Given the description of an element on the screen output the (x, y) to click on. 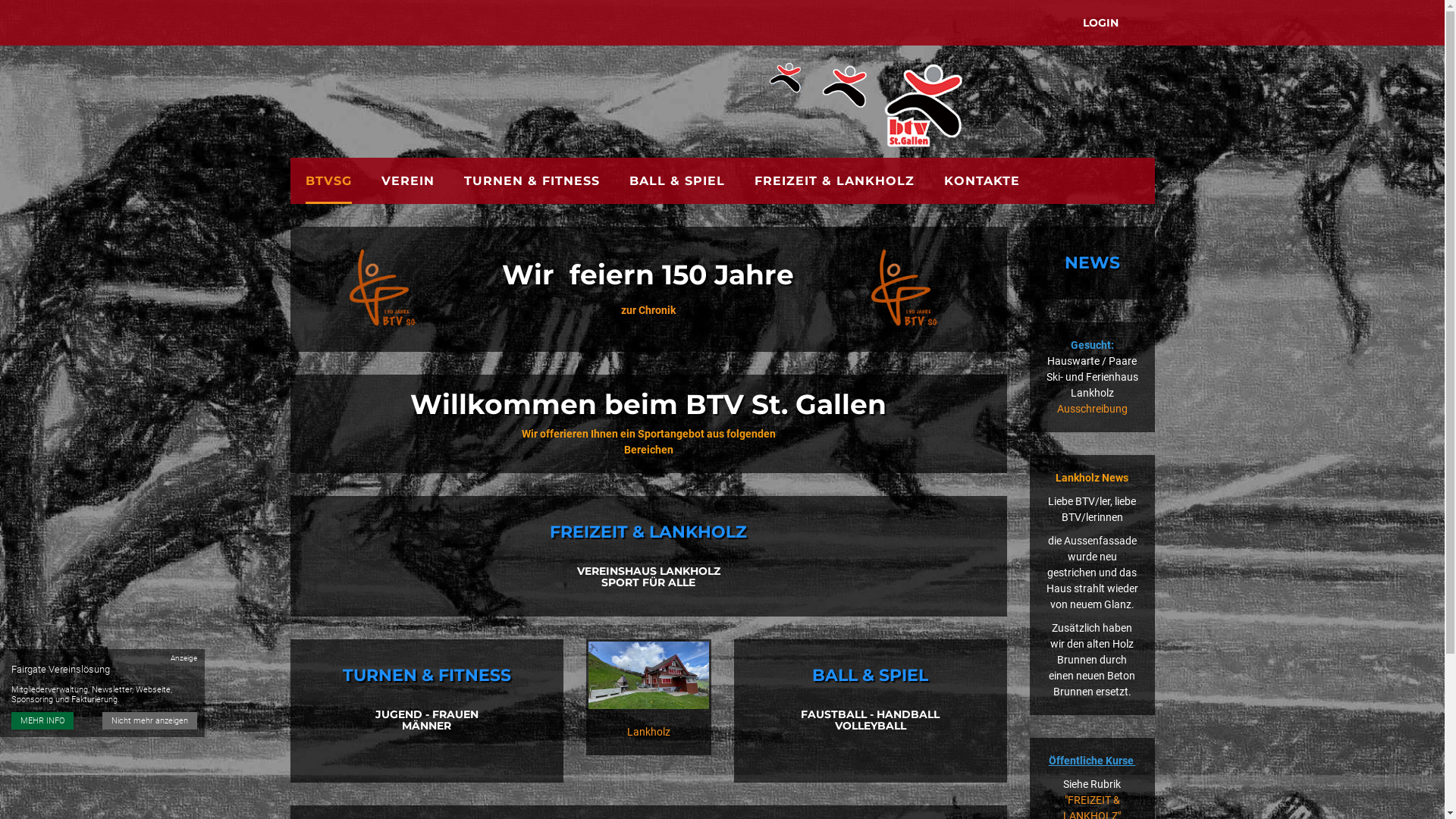
TURNEN & FITNESS Element type: text (531, 180)
Nicht mehr anzeigen Element type: text (149, 720)
LOGIN Element type: text (1100, 22)
VEREIN Element type: text (406, 180)
BTVSG Element type: text (327, 180)
MEHR INFO Element type: text (42, 720)
Lankholz Element type: text (647, 731)
KONTAKTE Element type: text (981, 180)
BALL & SPIEL Element type: text (676, 180)
FREIZEIT & LANKHOLZ Element type: text (833, 180)
zur Chronik Element type: text (648, 310)
Ausschreibung Element type: text (1092, 408)
